Given the description of an element on the screen output the (x, y) to click on. 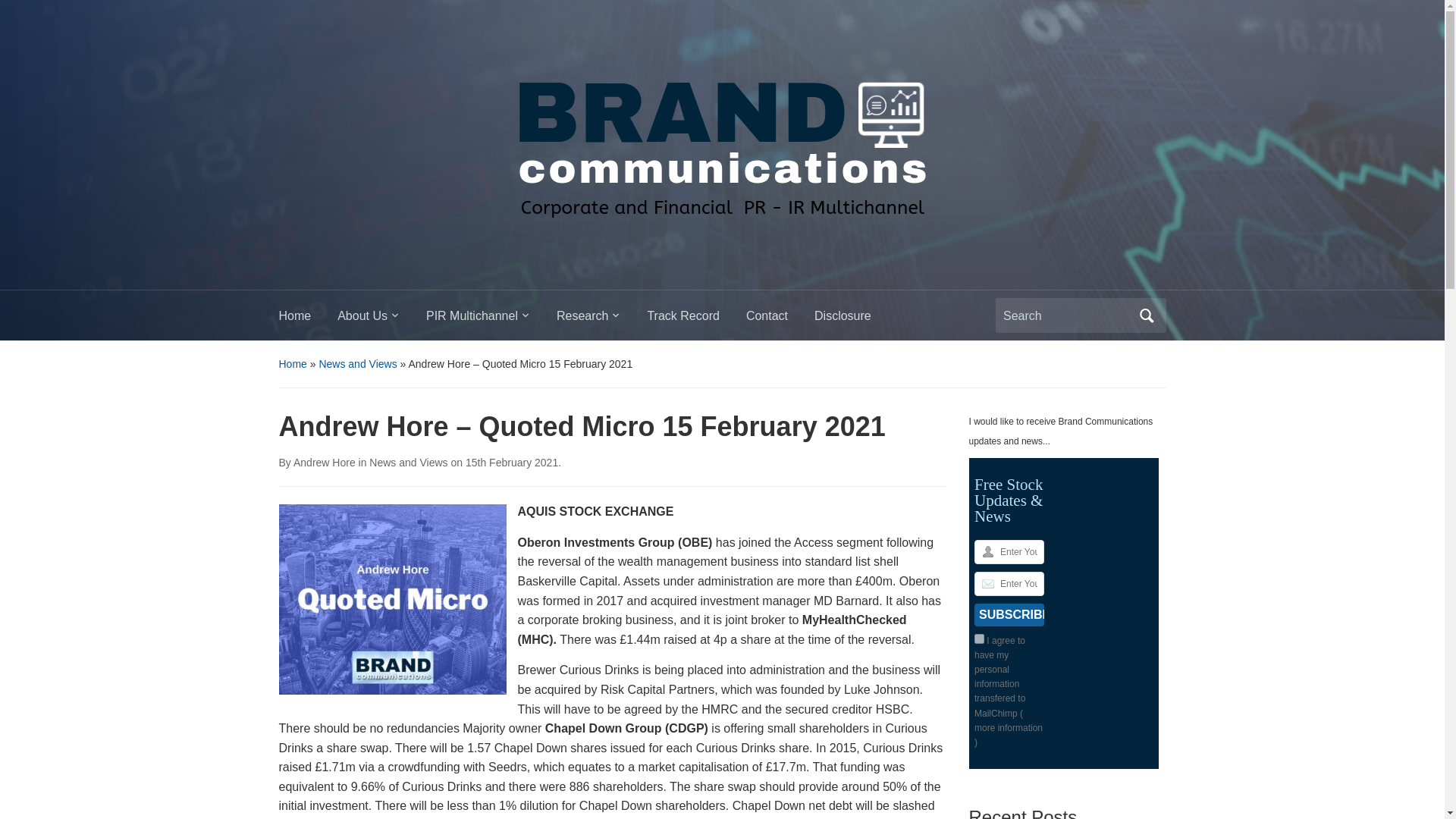
PIR Multichannel (491, 320)
SUBSCRIBE HERE (1008, 614)
on (979, 638)
About Us (381, 320)
View all posts by Andrew Hore (324, 462)
12:45 am (511, 462)
 -  (721, 139)
Home (308, 320)
